Given the description of an element on the screen output the (x, y) to click on. 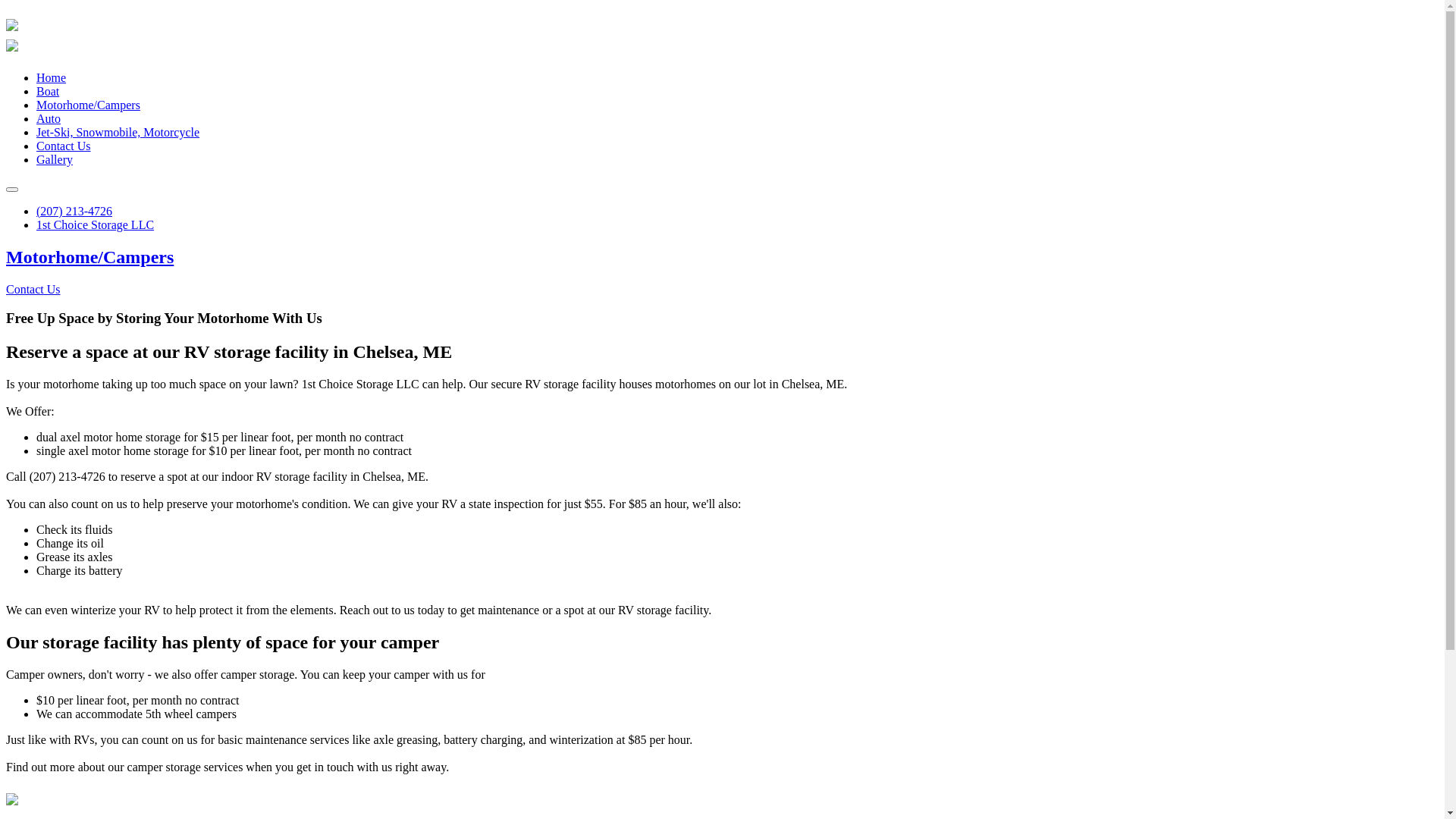
Motorhome/Campers Element type: text (88, 104)
Motorhome/Campers
Contact Us Element type: text (722, 271)
1st Choice Storage LLC Element type: hover (12, 24)
Gallery Element type: text (54, 159)
1st Choice Storage LLC Element type: hover (12, 799)
Boat Element type: text (47, 90)
1st Choice Storage LLC Element type: text (94, 224)
Contact Us Element type: text (63, 145)
Home Element type: text (50, 77)
1st Choice Storage LLC Element type: hover (12, 45)
(207) 213-4726 Element type: text (74, 210)
Open Menu Element type: hover (12, 189)
Auto Element type: text (48, 118)
Jet-Ski, Snowmobile, Motorcycle Element type: text (117, 131)
